Given the description of an element on the screen output the (x, y) to click on. 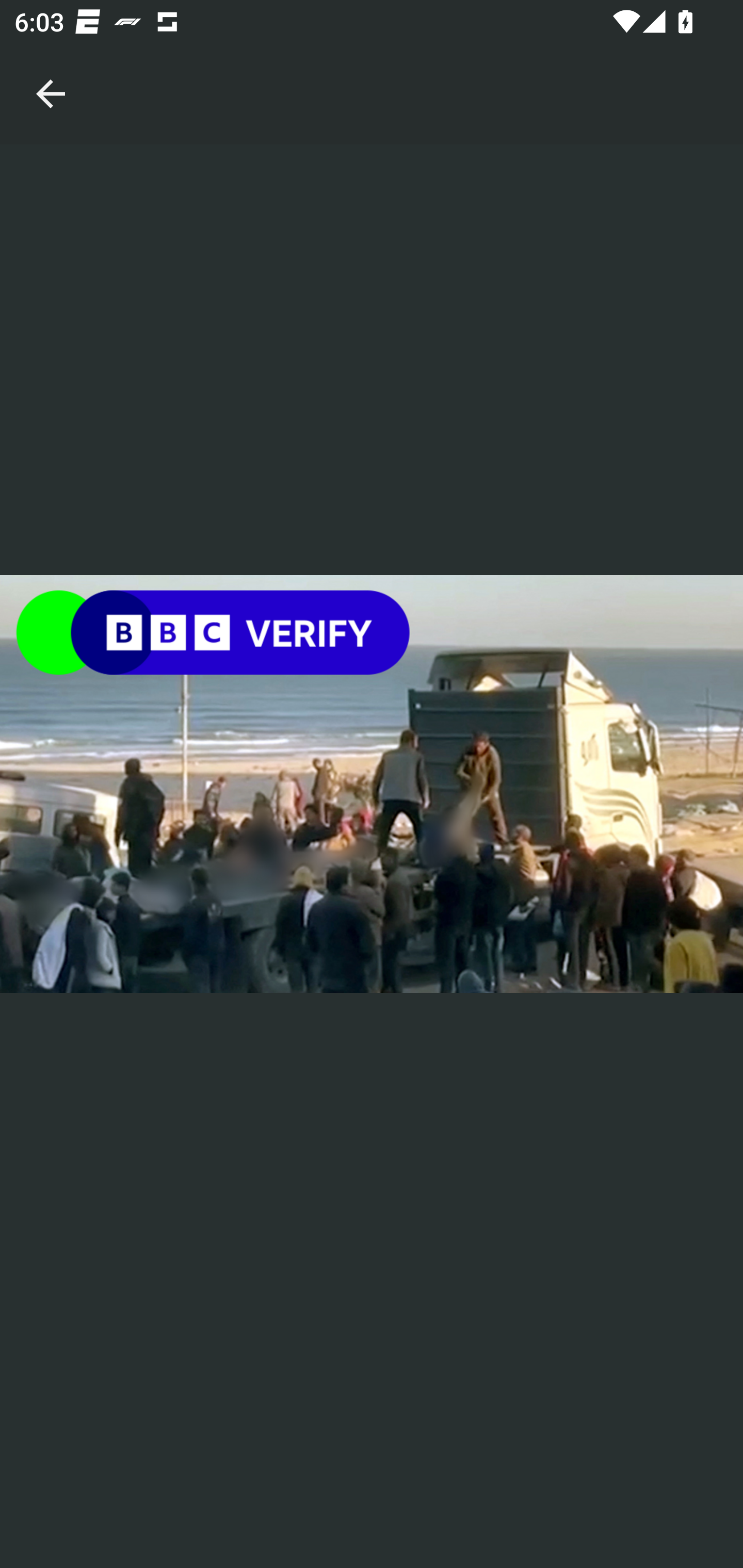
Back (50, 72)
